Given the description of an element on the screen output the (x, y) to click on. 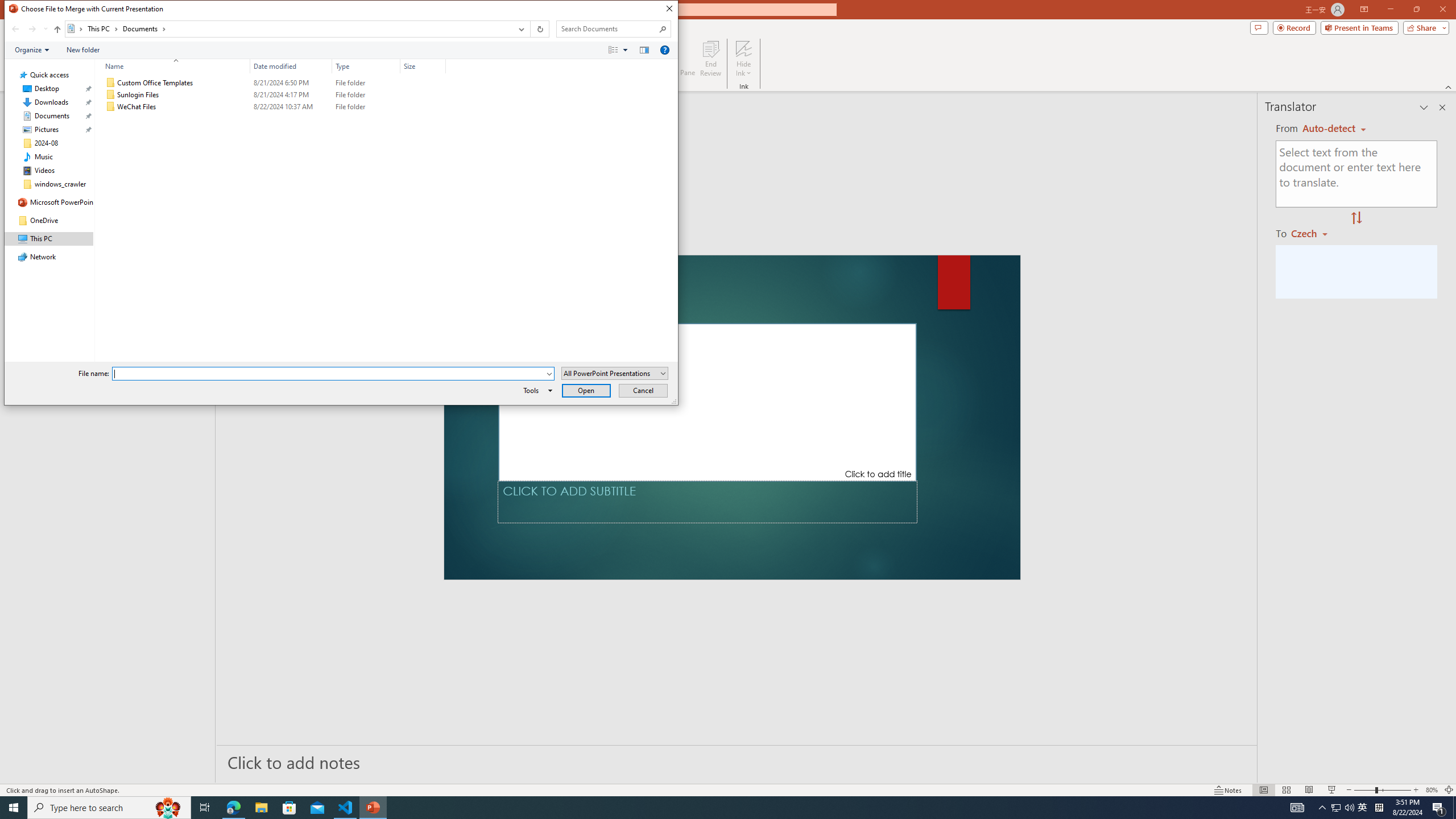
All locations (75, 28)
